Given the description of an element on the screen output the (x, y) to click on. 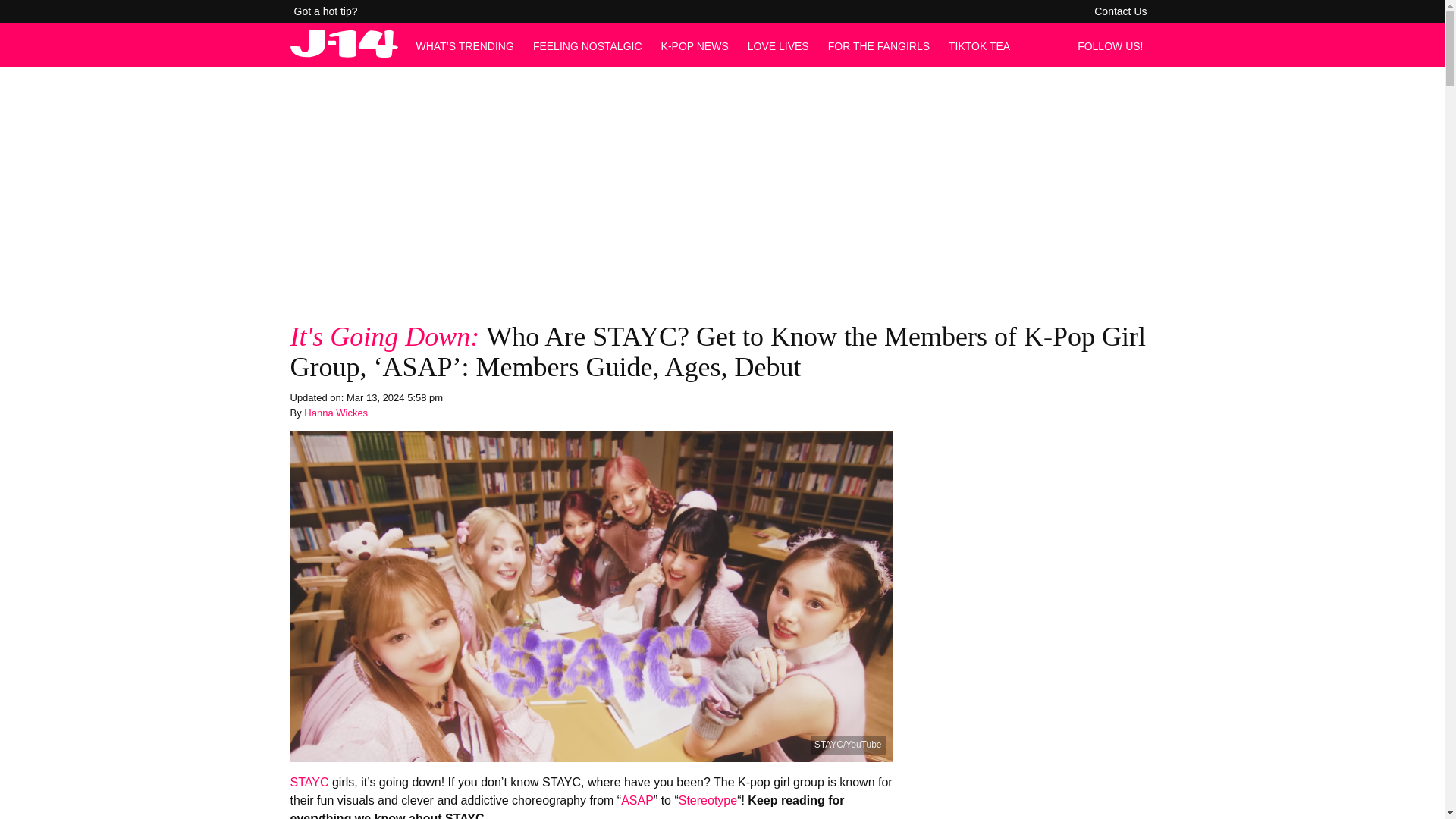
LOVE LIVES (778, 46)
ASAP (637, 799)
FEELING NOSTALGIC (587, 46)
Posts by Hanna Wickes (336, 412)
Got a hot tip? (325, 11)
FOLLOW US! (1114, 45)
STAYC (309, 781)
Contact Us (1120, 11)
K-POP NEWS (695, 46)
Home (343, 52)
